Given the description of an element on the screen output the (x, y) to click on. 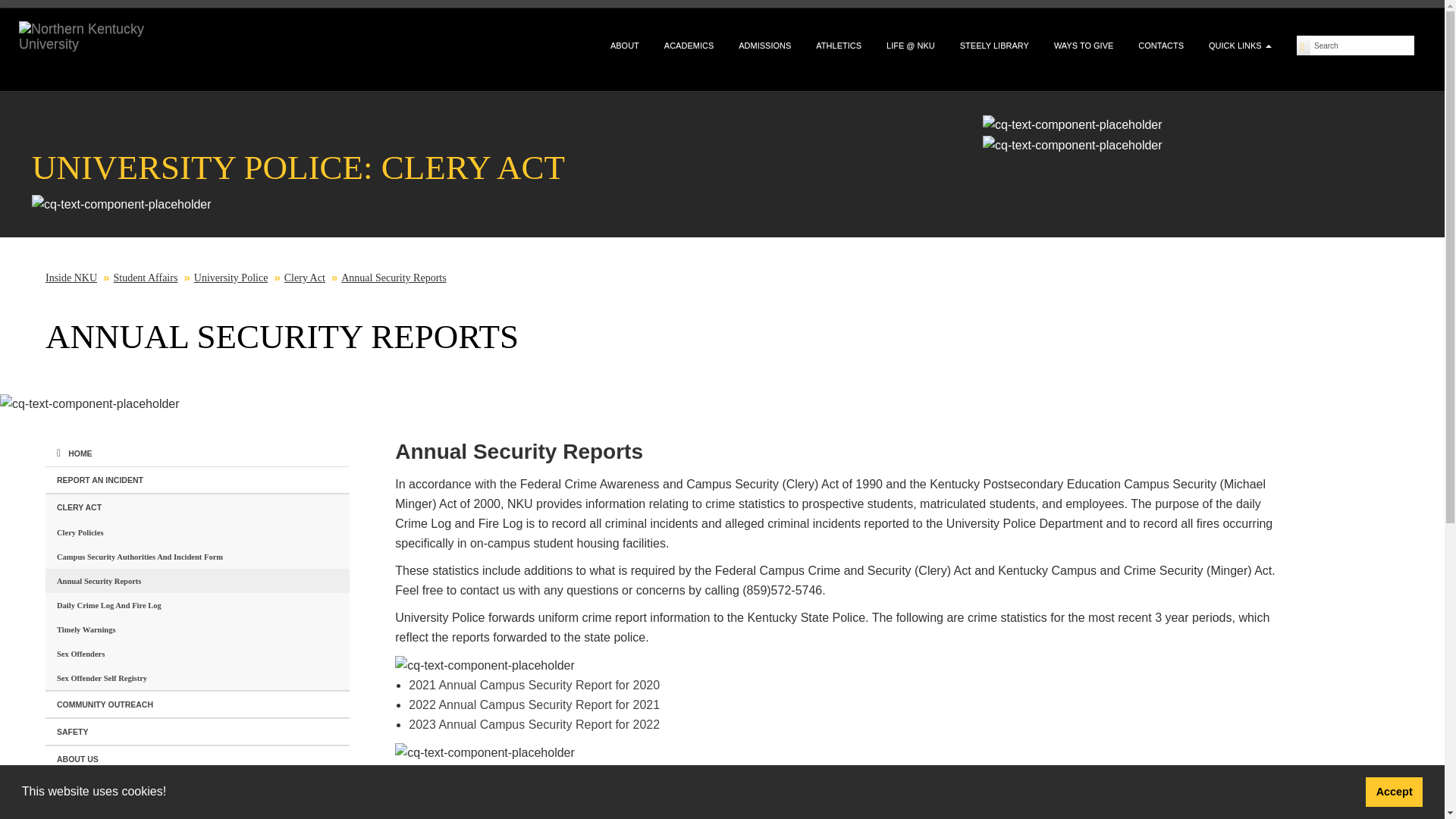
Daily Crime Log And Fire Log (197, 604)
Clery Policies (197, 532)
HOME (197, 453)
Safety (197, 731)
University Police (230, 277)
Clery Act (303, 277)
Campus Security Authorities and Incident Form (197, 556)
Home (197, 453)
Sex Offenders (197, 653)
REPORT AN INCIDENT (197, 479)
